Given the description of an element on the screen output the (x, y) to click on. 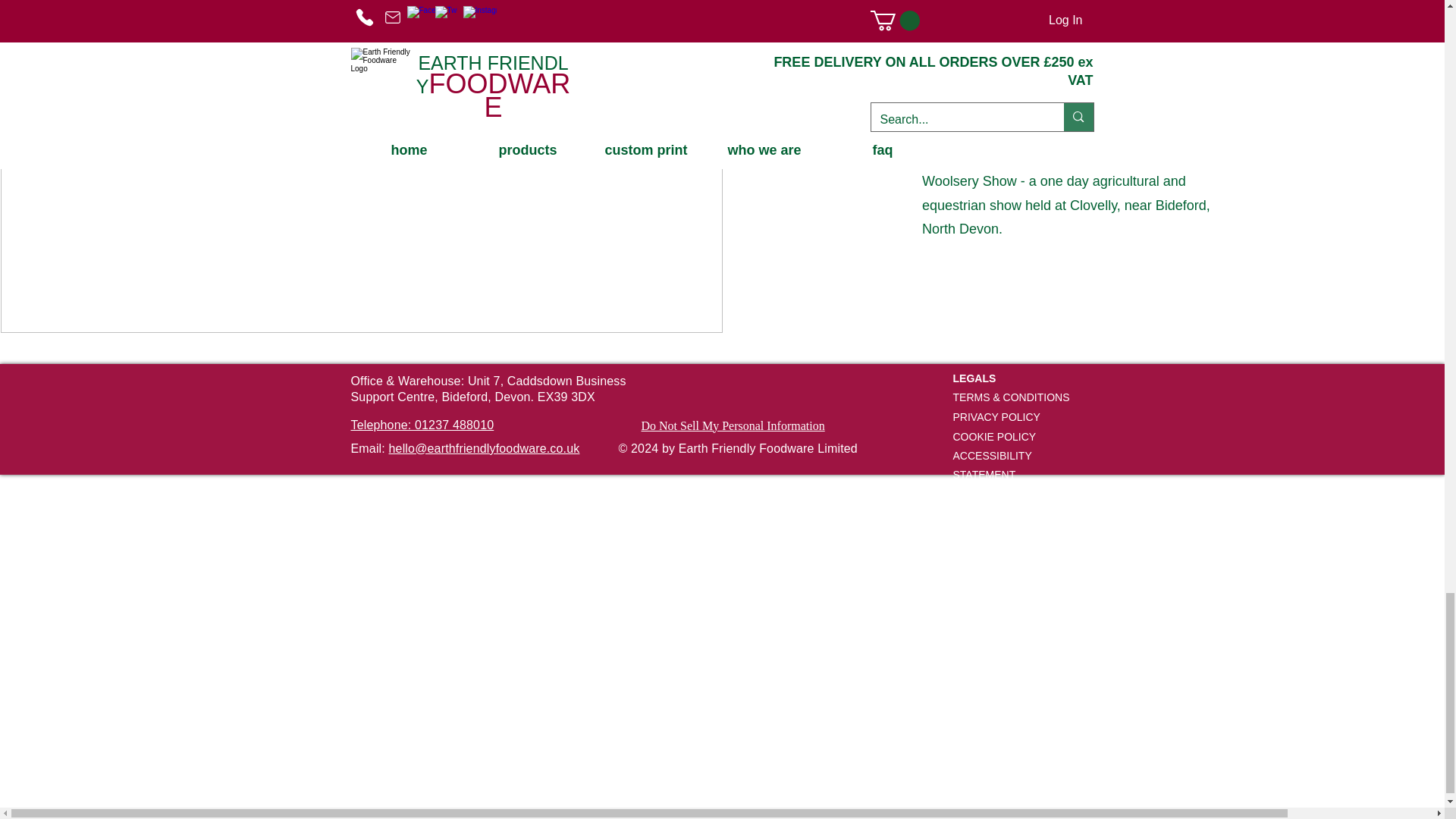
Do Not Sell My Personal Information (733, 425)
Telephone: 01237 488010 (421, 424)
Woolsery Show (1080, 130)
